Given the description of an element on the screen output the (x, y) to click on. 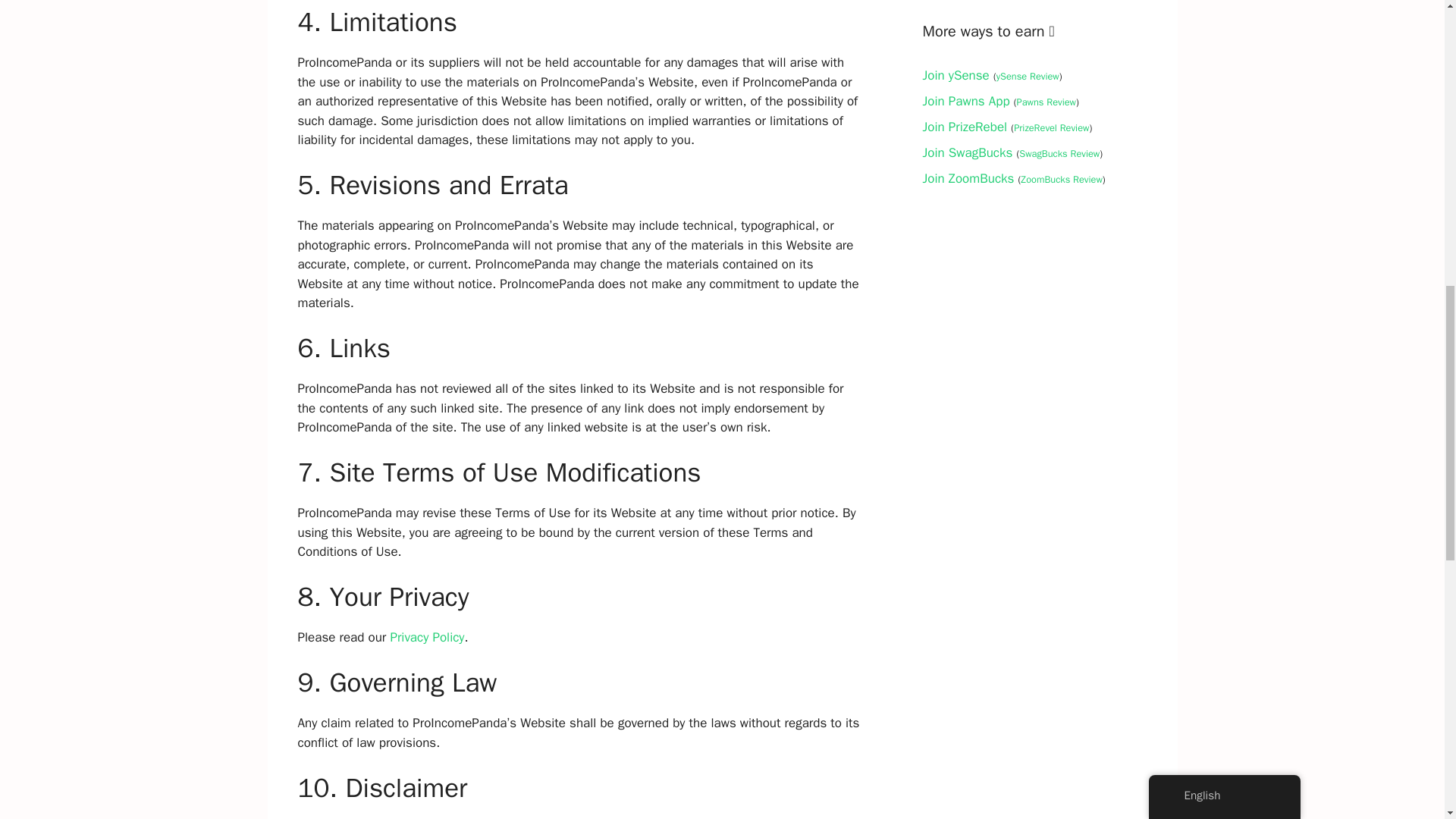
PrizeRevel Review (1051, 128)
Join SwagBucks (966, 152)
Privacy Policy (427, 637)
Join Pawns App (965, 100)
Join PrizeRebel (964, 126)
SwagBucks Review (1059, 153)
ySense Review (1027, 76)
ZoomBucks Review (1061, 179)
Join ZoomBucks (967, 178)
Pawns Review (1045, 102)
